Given the description of an element on the screen output the (x, y) to click on. 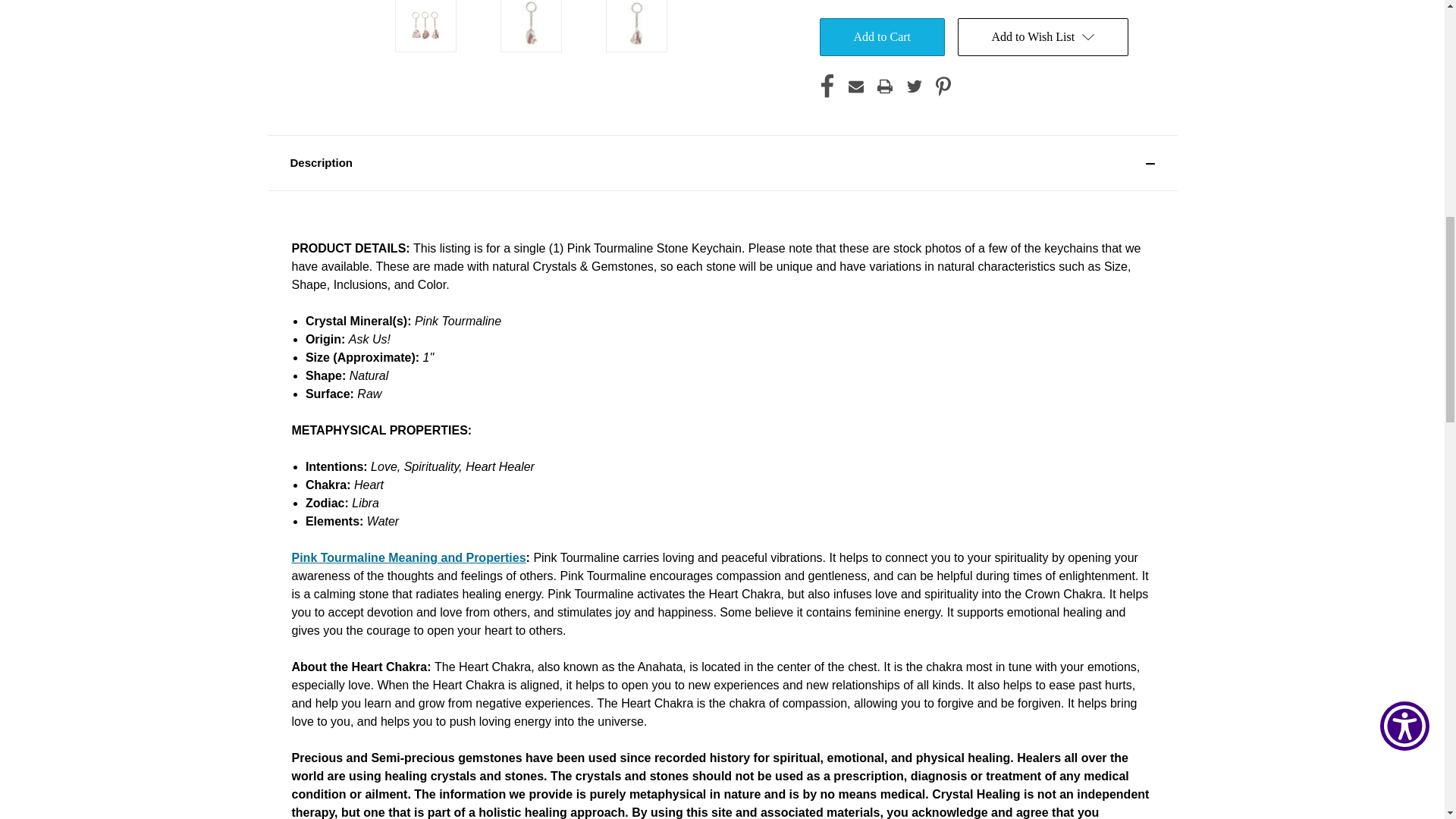
Pink Tourmaline Stone Keychain (425, 24)
Add to Cart (881, 37)
